Given the description of an element on the screen output the (x, y) to click on. 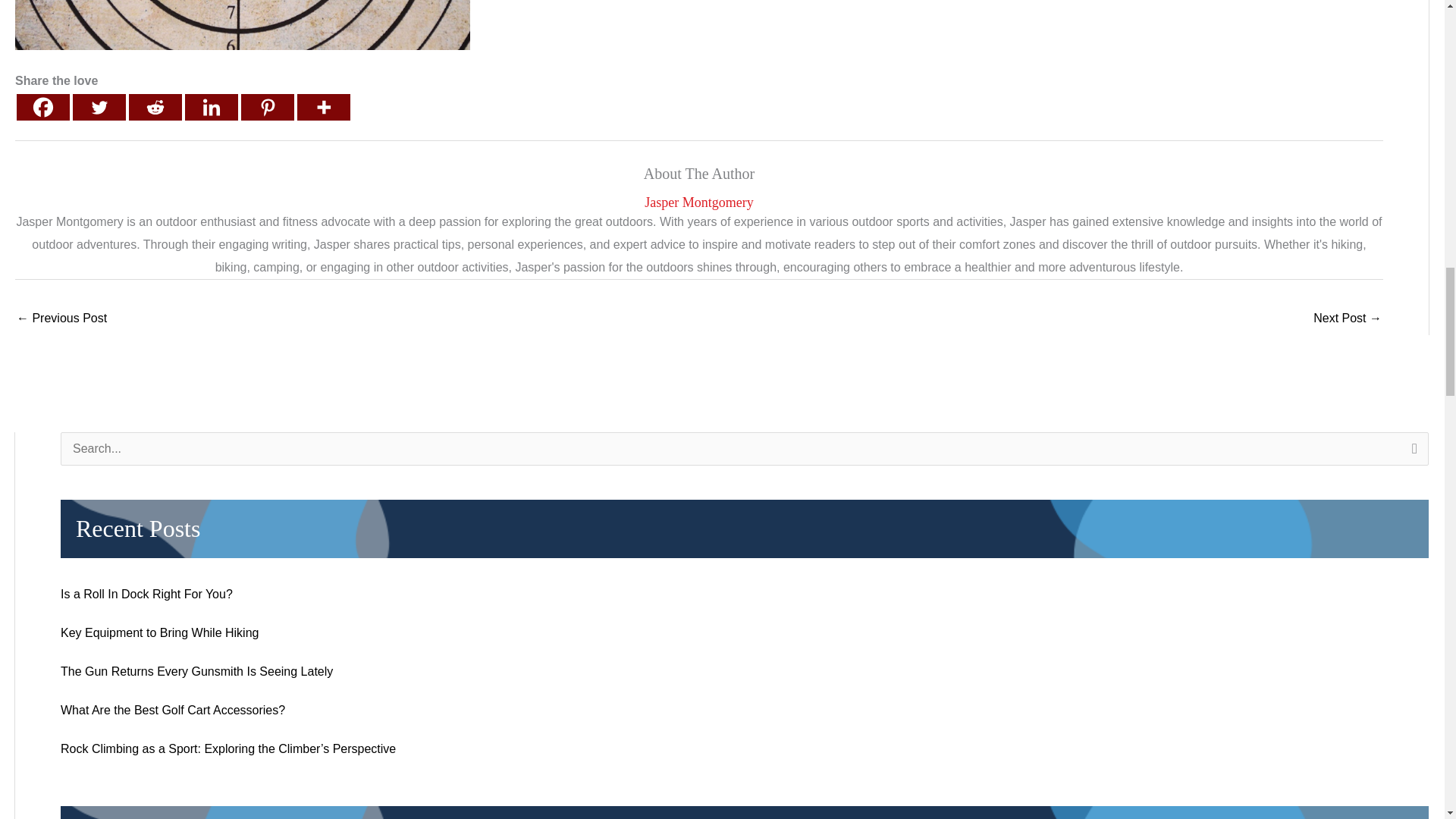
Key Equipment to Bring While Hiking (160, 632)
Linkedin (211, 107)
Is a Roll In Dock Right For You? (146, 594)
Jasper Montgomery (698, 202)
Facebook (42, 107)
Key Equipment to Bring While Hiking (1347, 318)
The Gun Returns Every Gunsmith Is Seeing Lately (197, 671)
Search (1411, 453)
Search (1411, 453)
Pinterest (267, 107)
Reddit (155, 107)
What Are the Best Golf Cart Accessories? (61, 318)
More (323, 107)
What Are the Best Golf Cart Accessories? (173, 709)
Twitter (98, 107)
